Given the description of an element on the screen output the (x, y) to click on. 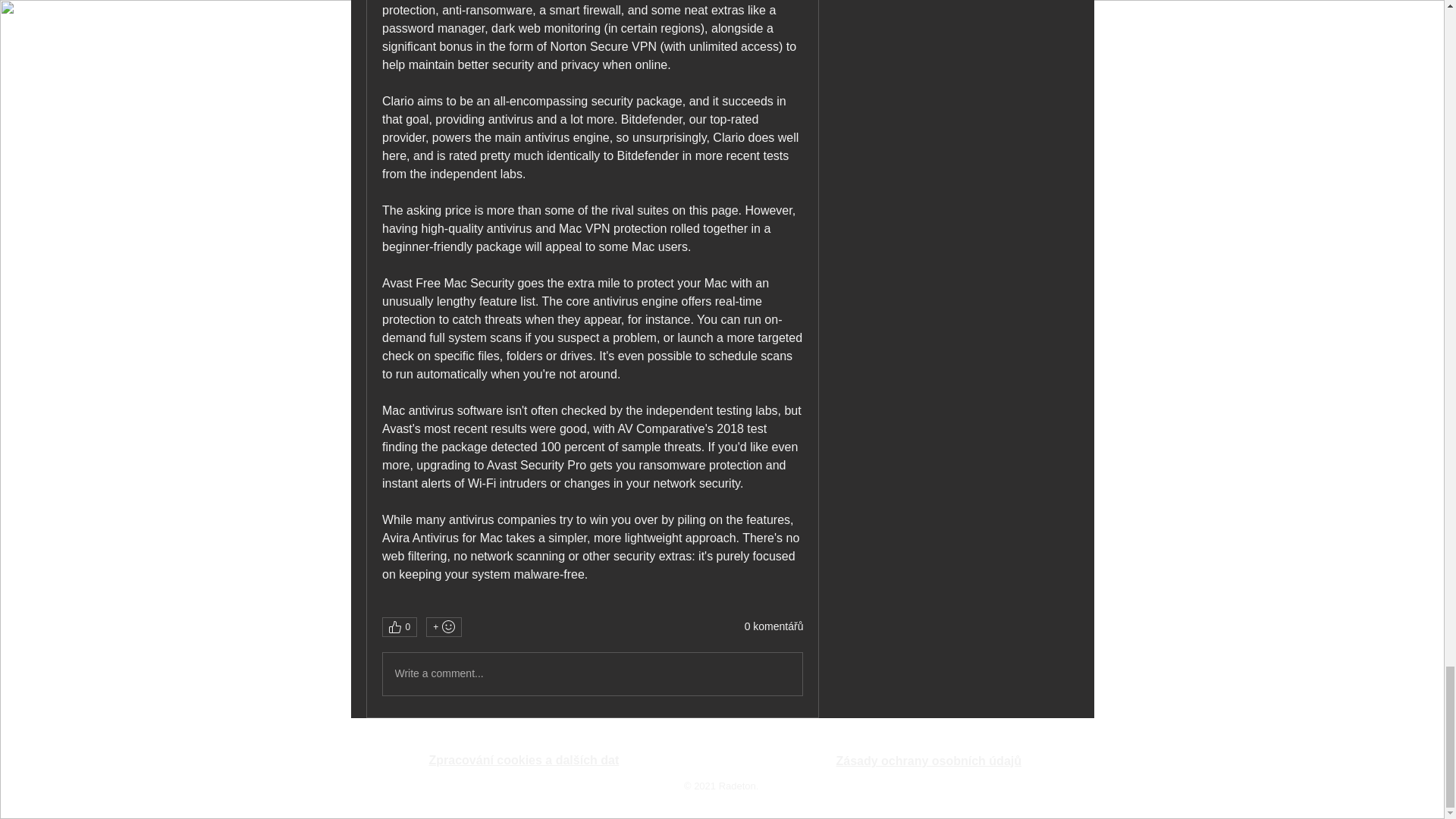
Write a comment... (591, 673)
